Given the description of an element on the screen output the (x, y) to click on. 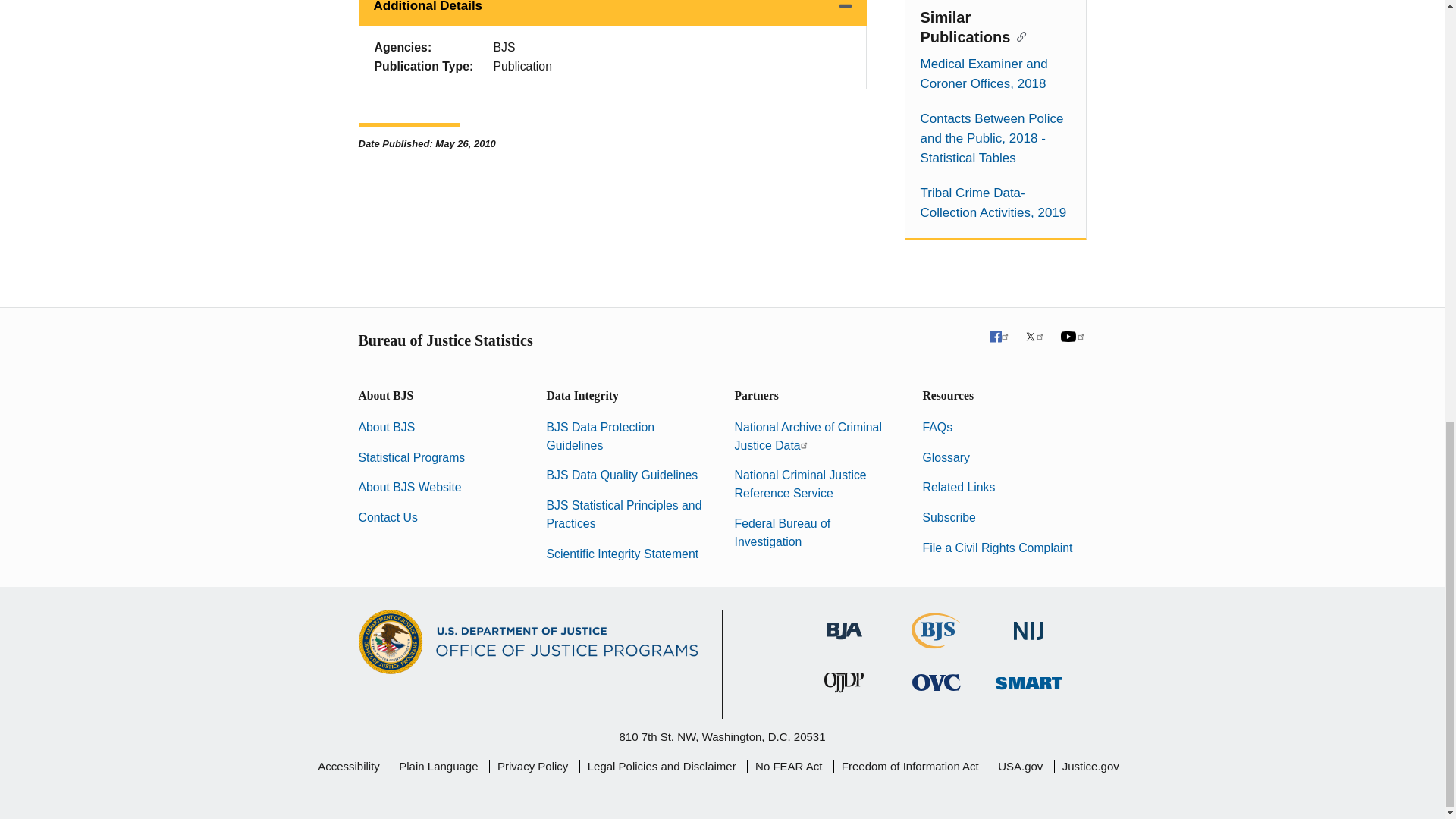
Tribal Crime Data-Collection Activities, 2019 (995, 202)
Copy link to section: Similar Publications (1018, 35)
Medical Examiner and Coroner Offices, 2018 (995, 74)
Additional Details (612, 12)
